Given the description of an element on the screen output the (x, y) to click on. 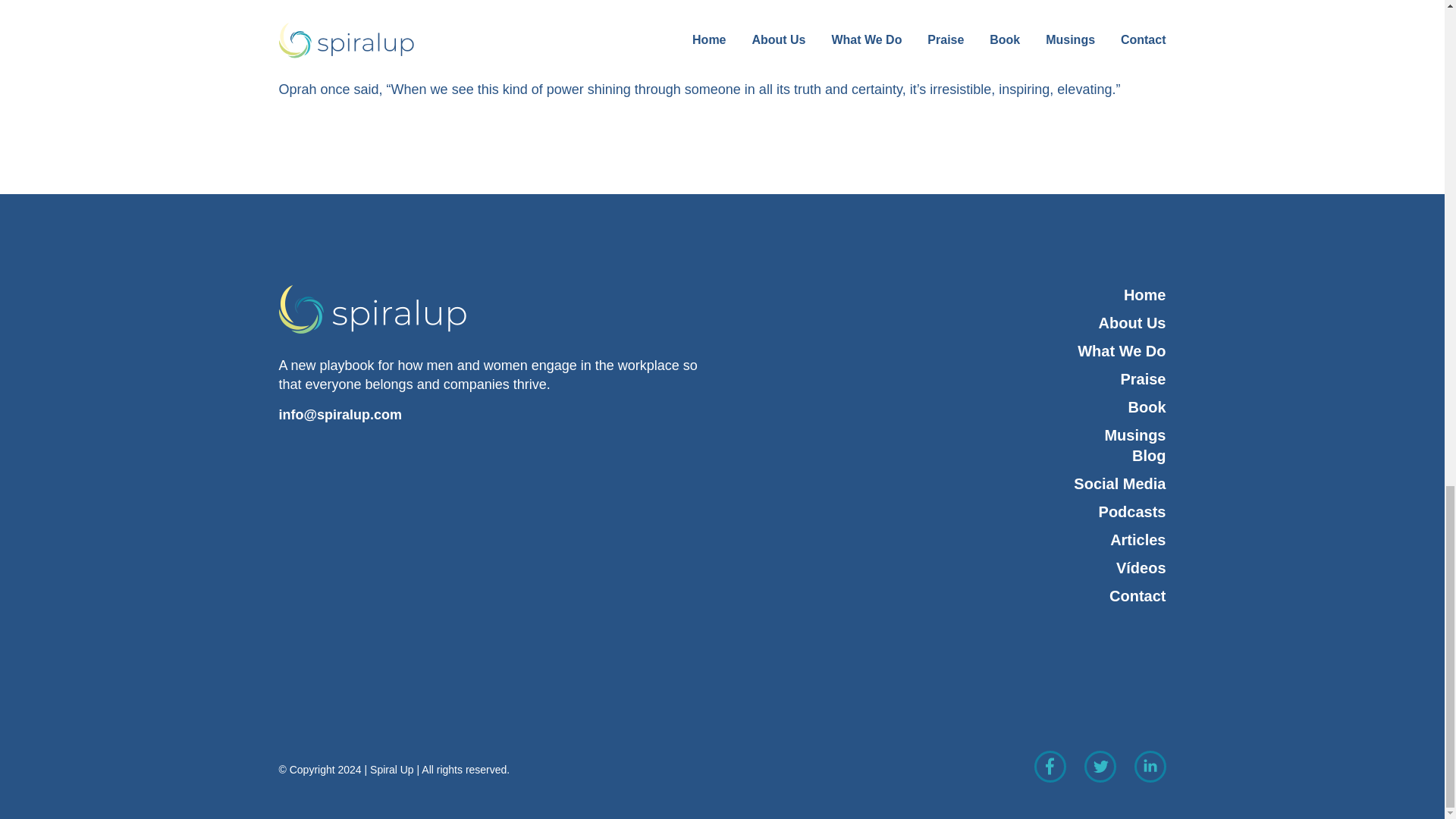
Twitter (1100, 766)
LinkedIn (1150, 766)
About Us (949, 322)
Social Media (965, 484)
Podcasts (965, 512)
Articles (965, 539)
Book (949, 407)
Facebook (1049, 766)
Blog (965, 455)
What We Do (949, 351)
Home (949, 295)
Contact (949, 596)
Praise (949, 379)
Musings (949, 435)
